Given the description of an element on the screen output the (x, y) to click on. 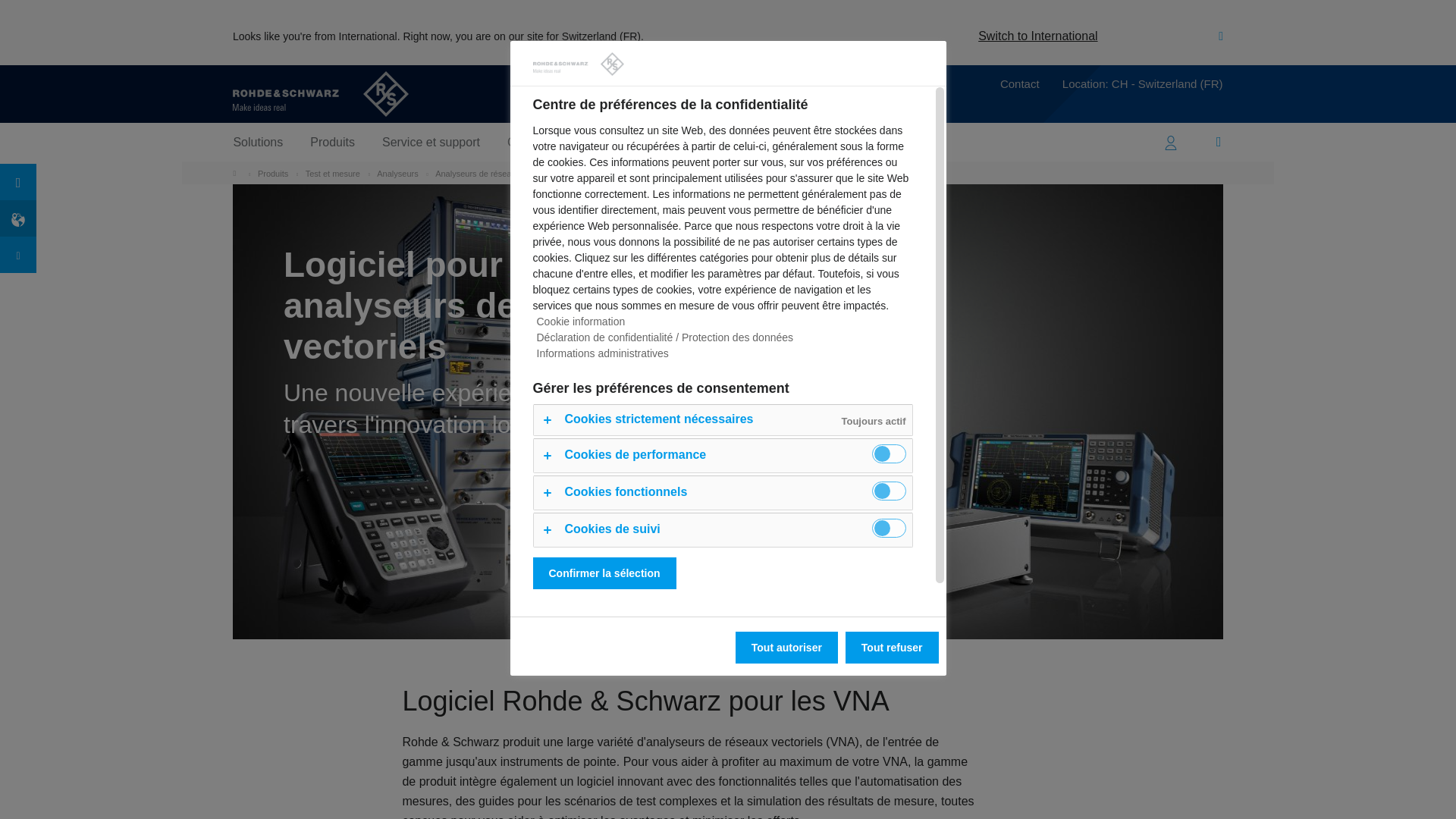
Test et mesure (332, 173)
Switch to International (1037, 36)
Customer portal (1170, 141)
Contact (1019, 85)
Produits (272, 173)
Home (237, 172)
Analyseurs (397, 173)
